Given the description of an element on the screen output the (x, y) to click on. 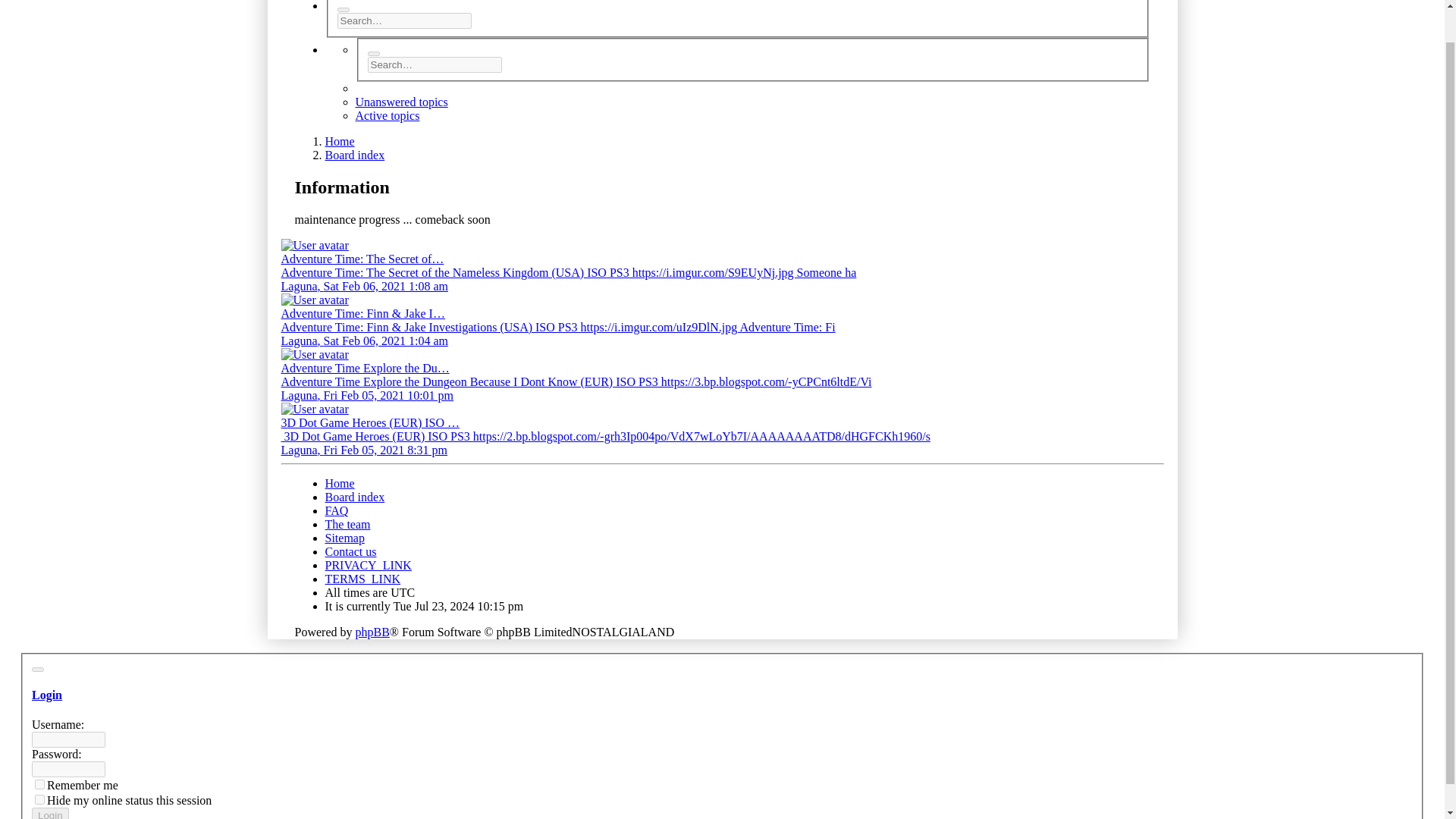
on (39, 799)
Search for keywords (403, 20)
Home (338, 141)
on (39, 784)
Login (47, 694)
Search (372, 53)
Unanswered topics (400, 101)
The team (346, 523)
Password (68, 769)
Board index (354, 496)
phpBB (371, 631)
Contact us (349, 551)
UTC (402, 592)
Board index (354, 154)
Frequently Asked Questions (335, 510)
